Given the description of an element on the screen output the (x, y) to click on. 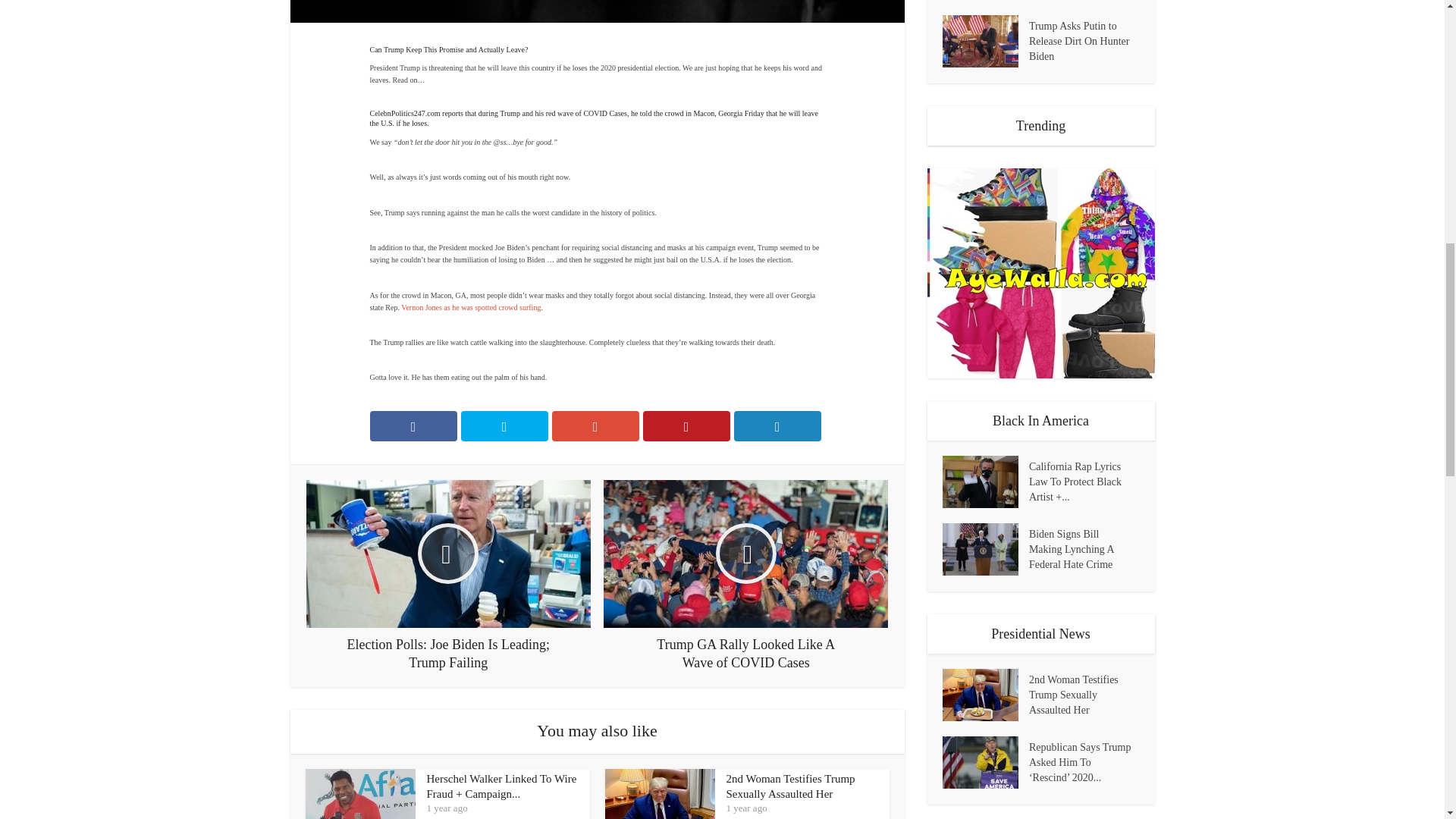
Vernon Jones as he was spotted crowd surfing (470, 307)
2nd Woman Testifies Trump Sexually Assaulted Her (791, 786)
2nd Woman Testifies Trump Sexually Assaulted Her (791, 786)
Election Polls: Joe Biden Is Leading; Trump Failing (448, 575)
Trump GA Rally Looked Like A Wave of COVID Cases (746, 575)
